Given the description of an element on the screen output the (x, y) to click on. 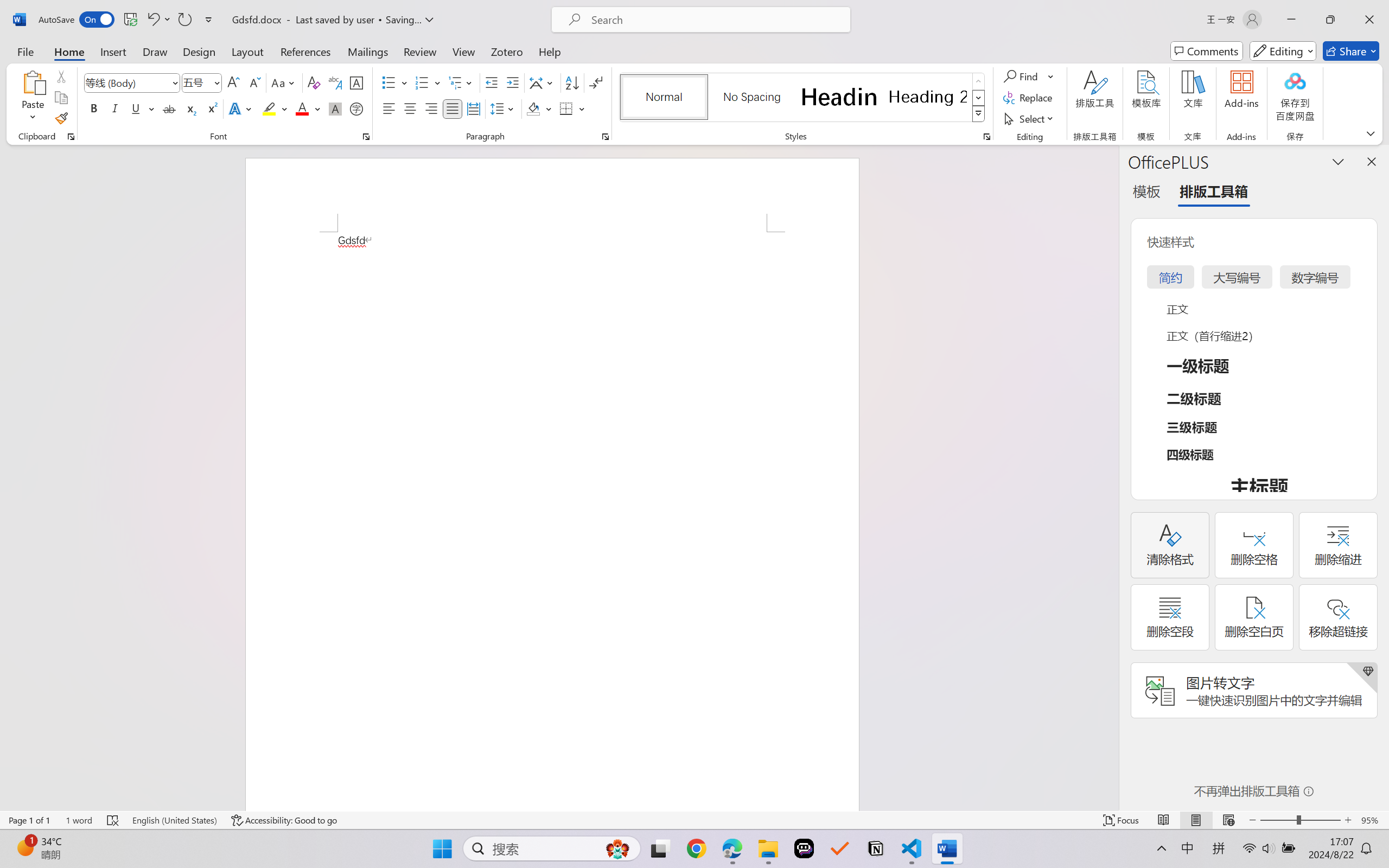
Undo ClearFormattingInner (158, 19)
